Given the description of an element on the screen output the (x, y) to click on. 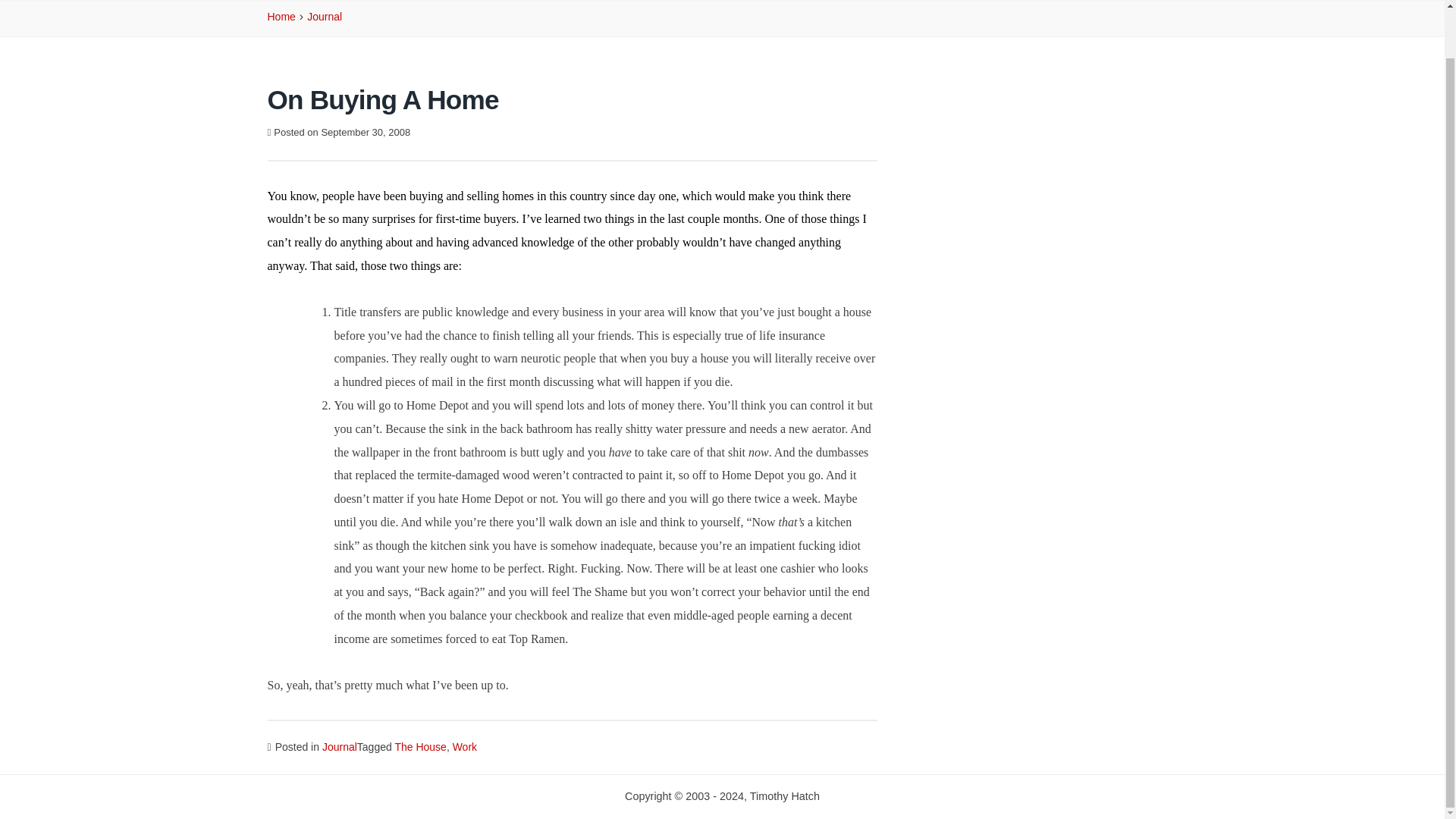
Journal (338, 746)
September 30, 2008 (365, 132)
The House (419, 746)
Work (464, 746)
Journal (324, 16)
Home (280, 16)
